Given the description of an element on the screen output the (x, y) to click on. 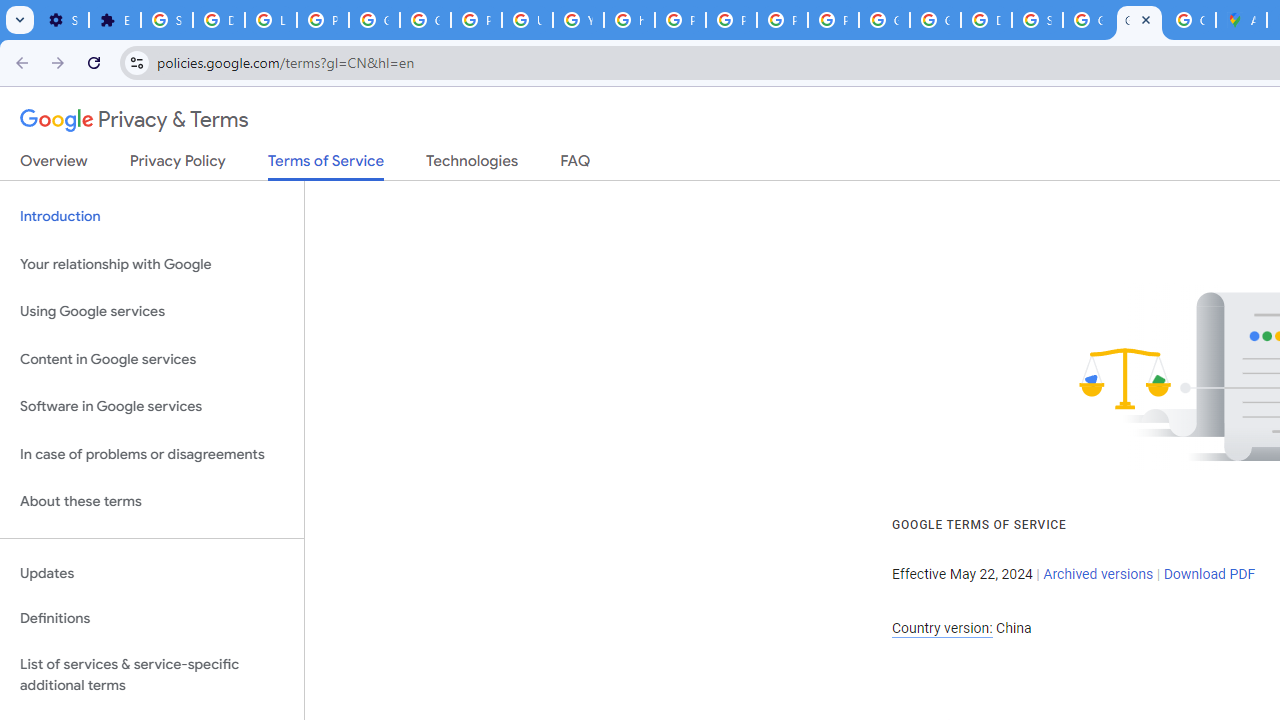
https://scholar.google.com/ (629, 20)
Country version: (942, 628)
YouTube (578, 20)
Software in Google services (152, 407)
